Given the description of an element on the screen output the (x, y) to click on. 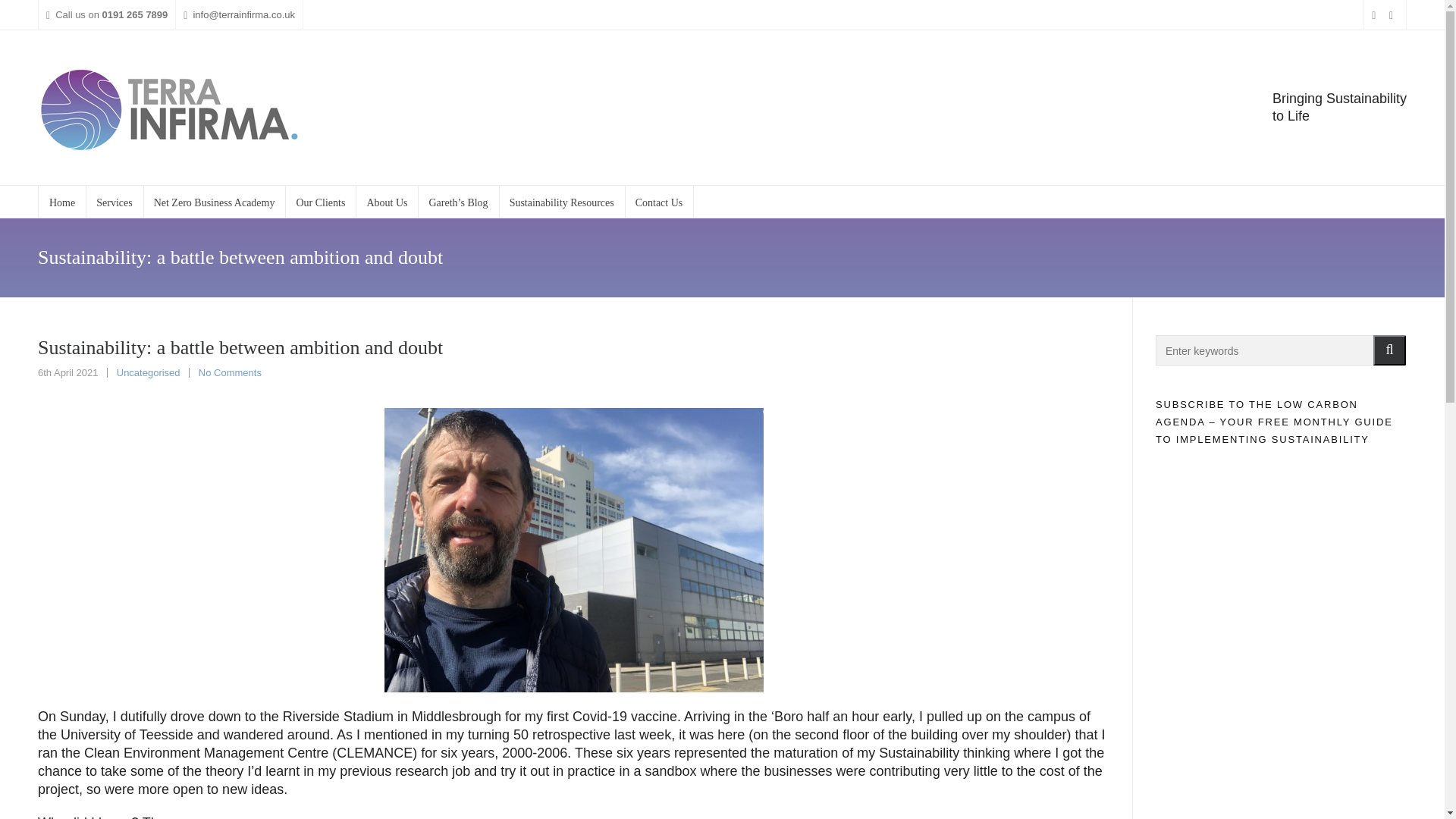
Sustainability Resources (562, 201)
Our Clients (320, 201)
Contact Us (659, 201)
No Comments (230, 372)
About Us (387, 201)
Home (61, 201)
Uncategorised (148, 372)
Services (113, 201)
No Comments (230, 372)
Net Zero Business Academy (214, 201)
